Given the description of an element on the screen output the (x, y) to click on. 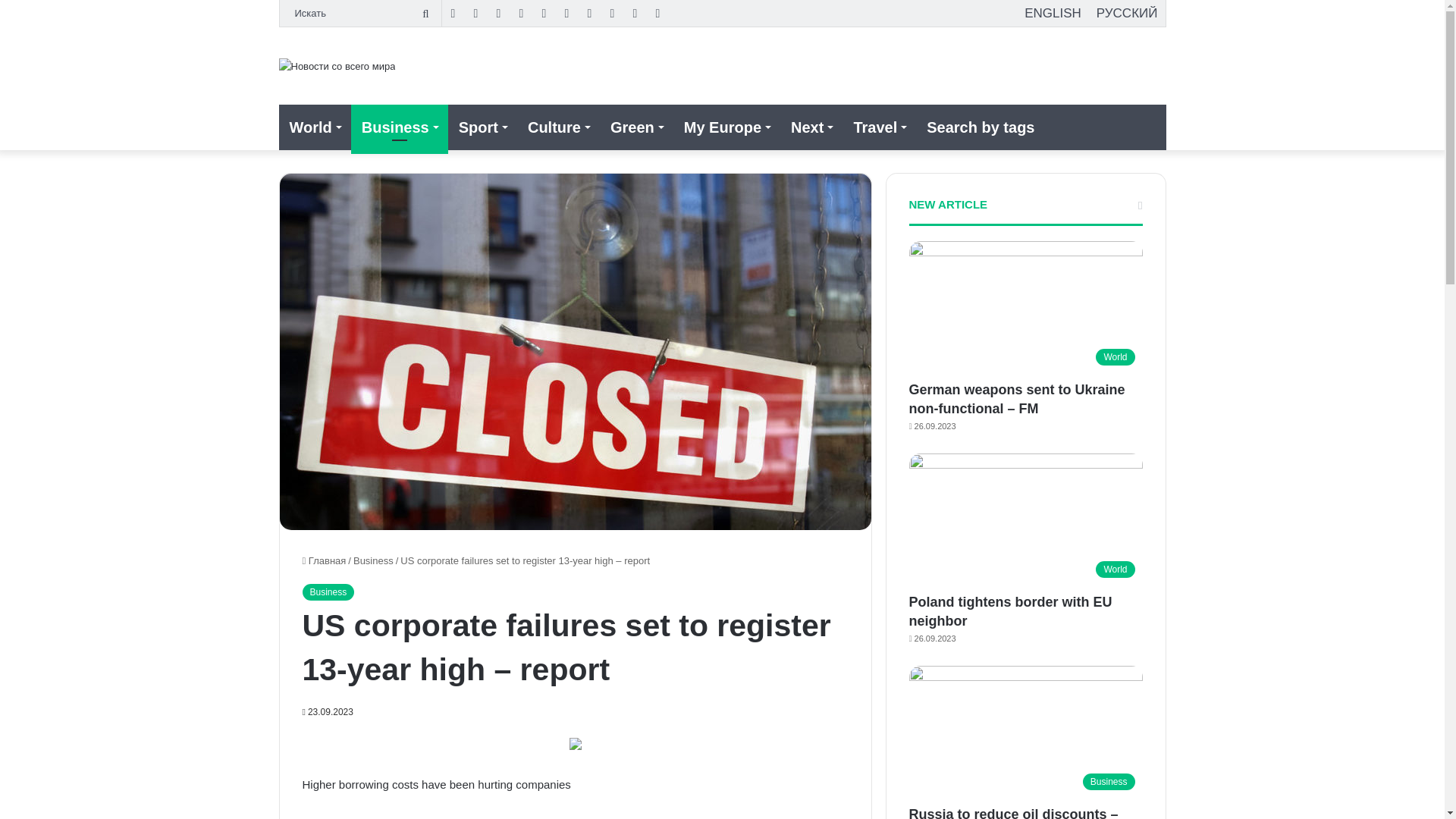
Business (327, 591)
Search by tags (980, 126)
ENGLISH (1052, 13)
Culture (557, 126)
Next (811, 126)
Sport (482, 126)
Business (399, 126)
Travel (879, 126)
Green (635, 126)
My Europe (726, 126)
